Given the description of an element on the screen output the (x, y) to click on. 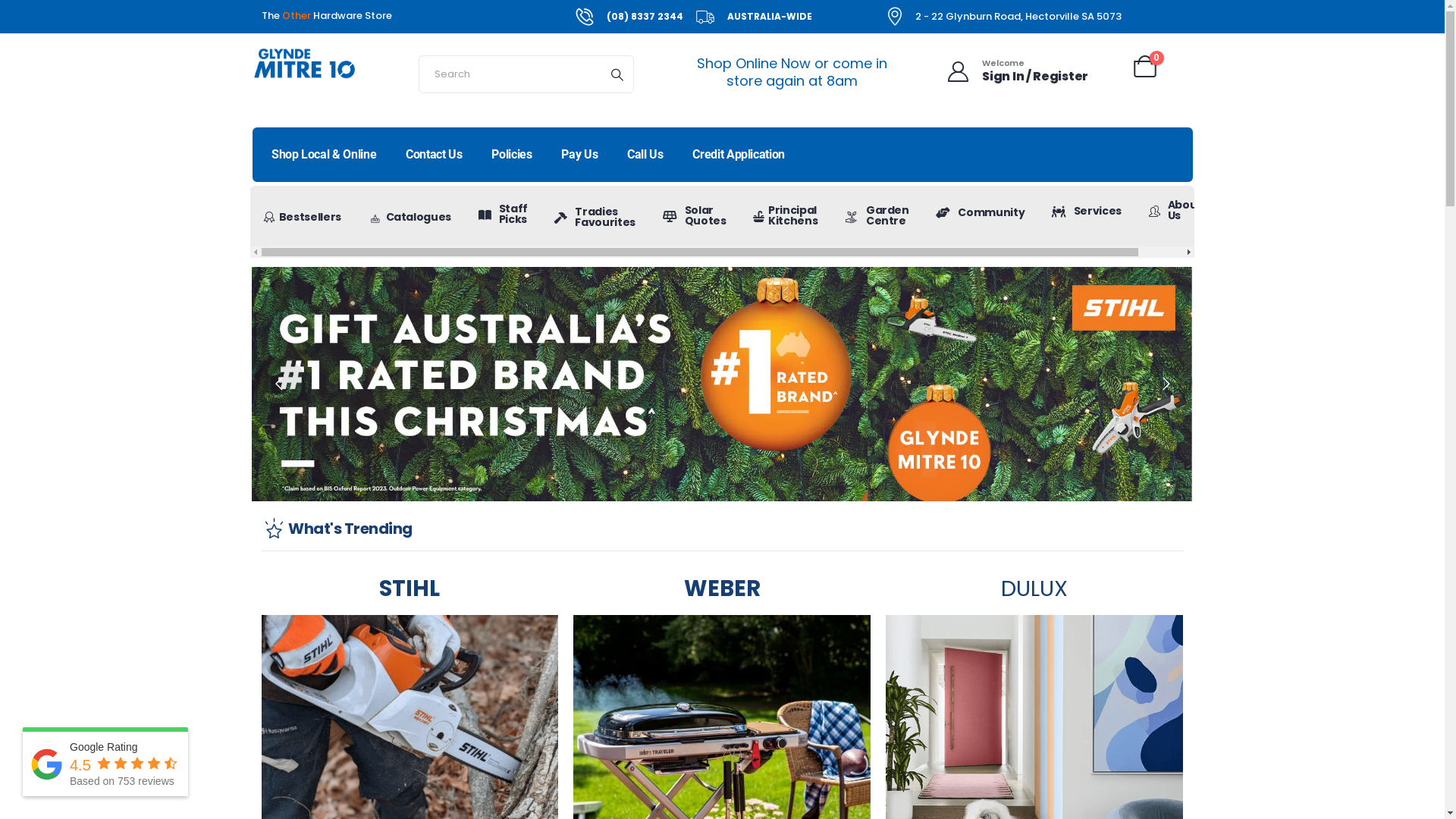
Shop Local & Online Element type: text (323, 154)
Principal Kitchens Element type: text (785, 215)
Contact Us Element type: text (433, 154)
Catalogues Element type: text (409, 216)
Credit Application Element type: text (738, 154)
About Us Element type: text (1175, 209)
The Other Hardware Store Element type: text (325, 15)
AUSTRALIA-WIDE Element type: text (752, 16)
Call Us Element type: text (644, 154)
Bestsellers Element type: text (302, 216)
WEBER Element type: text (722, 588)
Search Element type: hover (617, 74)
Services Element type: text (1086, 210)
Pay Us Element type: text (579, 154)
Policies Element type: text (511, 154)
DULUX Element type: text (1034, 588)
Glynde Mitre 10 - Online Store Element type: hover (303, 62)
Welcome
Sign In / Register Element type: text (1014, 71)
STIHL Element type: text (409, 588)
Solar Quotes Element type: text (694, 215)
2 - 22 Glynburn Road, Hectorville SA 5073 Element type: text (1003, 16)
Community Element type: text (980, 212)
Tradies Favourites Element type: text (595, 216)
(08) 8337 2344 Element type: text (628, 16)
Garden Centre Element type: text (876, 215)
Staff Picks Element type: text (502, 213)
